Given the description of an element on the screen output the (x, y) to click on. 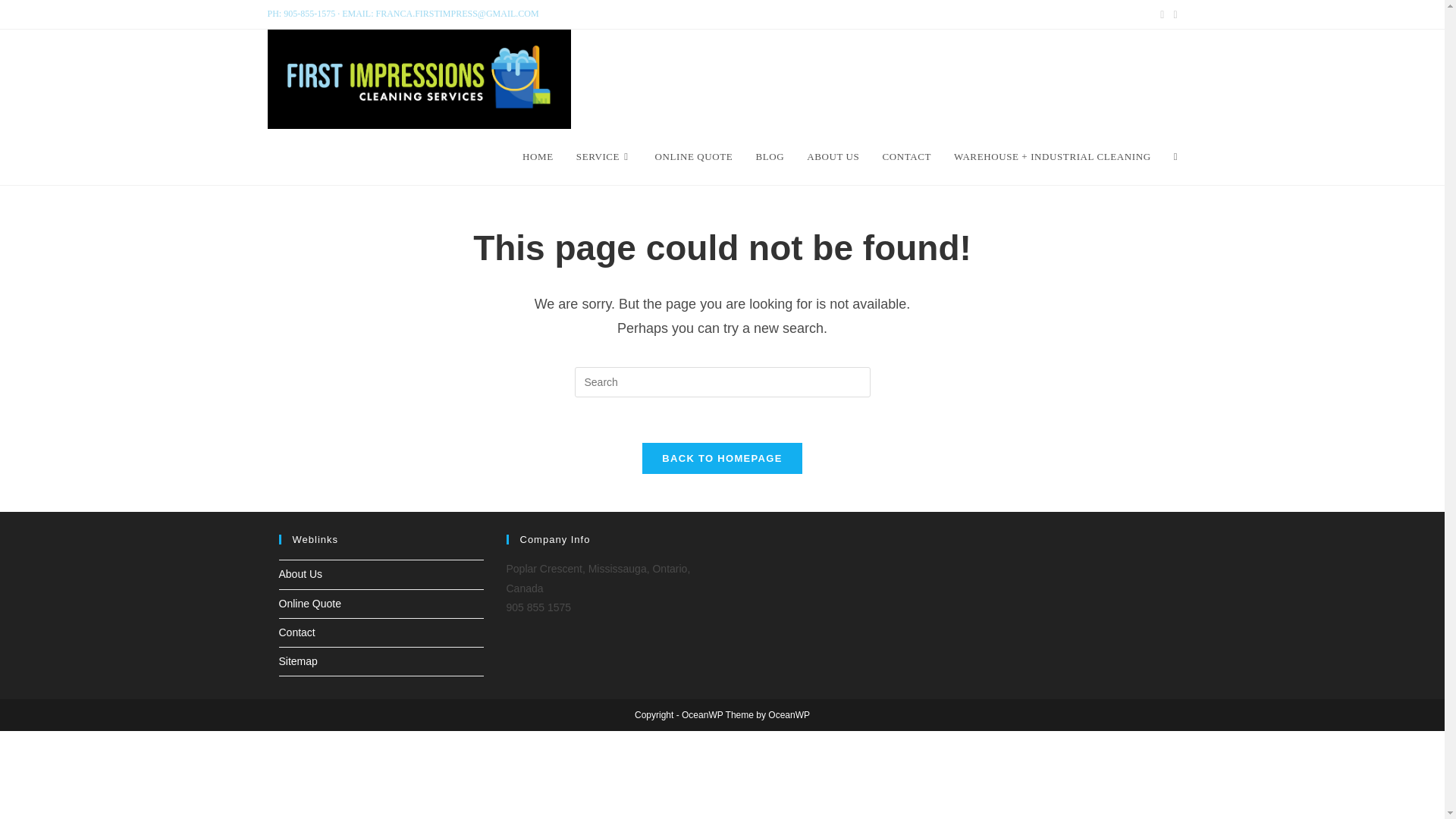
BLOG (769, 156)
About Us (301, 573)
CONTACT (906, 156)
BACK TO HOMEPAGE (722, 458)
Contact (297, 632)
ABOUT US (832, 156)
Sitemap (298, 661)
ONLINE QUOTE (693, 156)
HOME (537, 156)
Online Quote (310, 603)
SERVICE (603, 156)
